Given the description of an element on the screen output the (x, y) to click on. 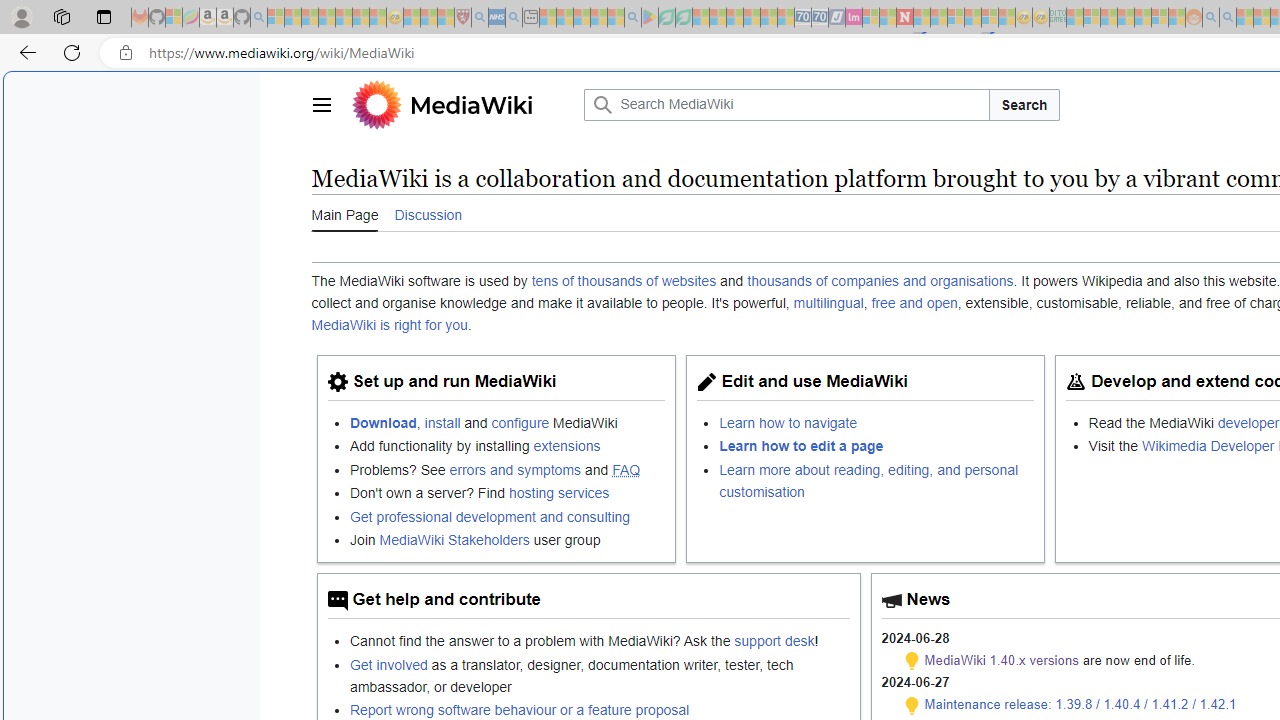
MediaWiki (471, 104)
Maintenance release: 1.39.8 / 1.40.4 / 1.41.2 / 1.42.1 (1080, 704)
Utah sues federal government - Search - Sleeping (1227, 17)
install (441, 422)
hosting services (559, 493)
tens of thousands of websites (623, 281)
Learn how to edit a page (877, 445)
Main Page (344, 214)
14 Common Myths Debunked By Scientific Facts - Sleeping (938, 17)
